Given the description of an element on the screen output the (x, y) to click on. 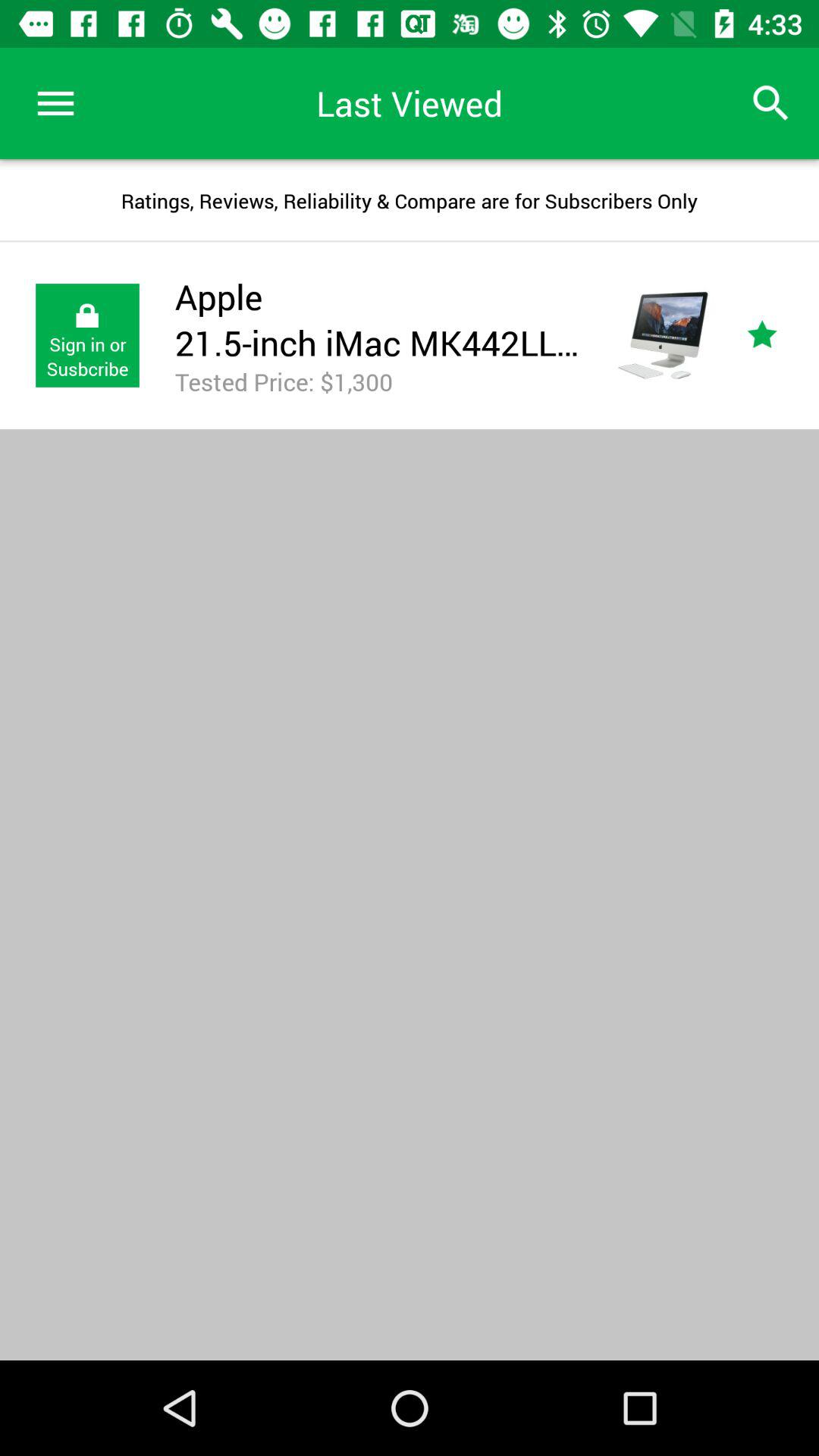
select the icon to the right of last viewed item (771, 103)
